Given the description of an element on the screen output the (x, y) to click on. 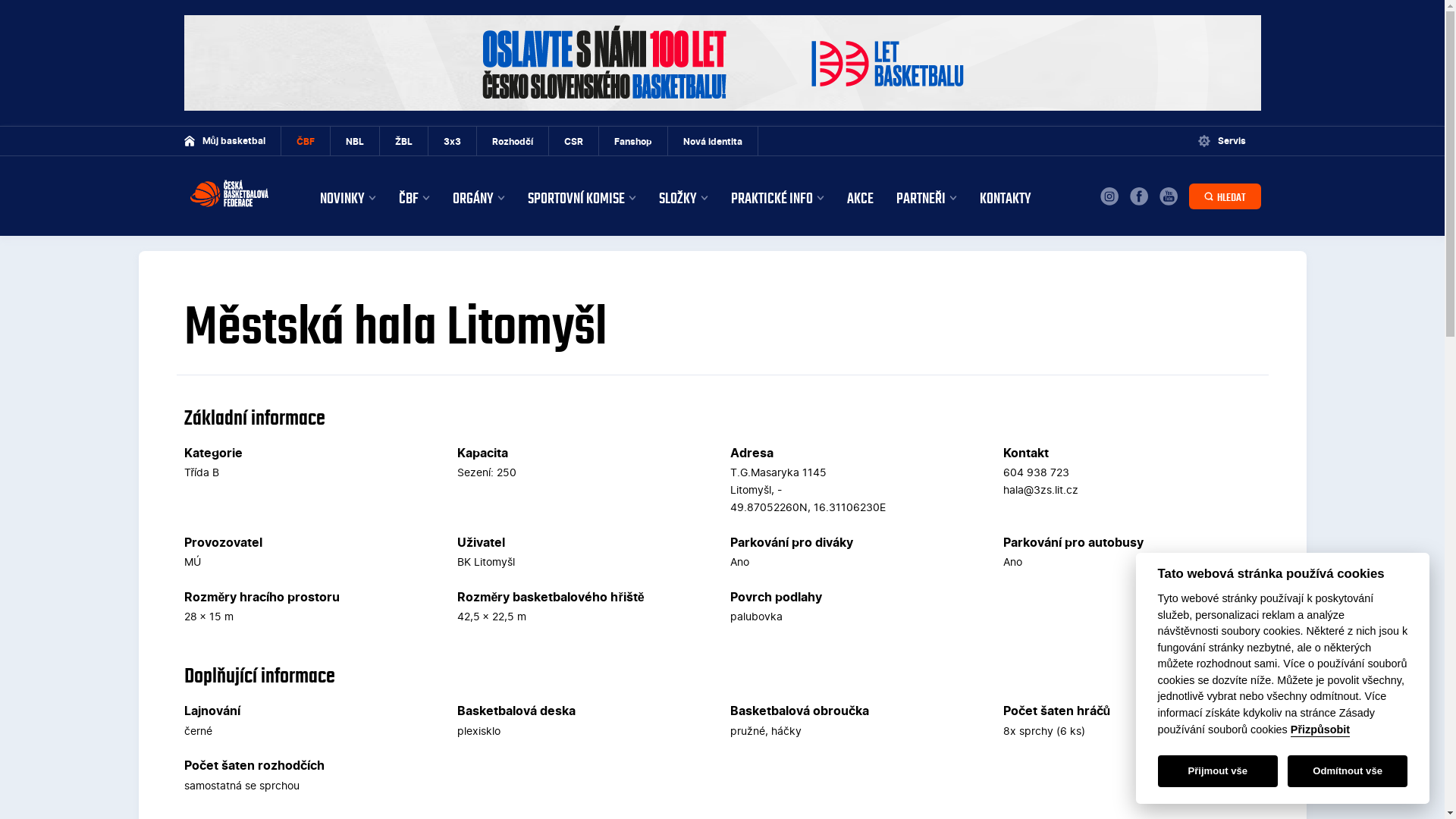
Instagram Element type: text (1108, 196)
CSR Element type: text (574, 140)
NBL Element type: text (354, 140)
Facebook Element type: text (1138, 196)
Youtube Element type: text (1167, 196)
Fanshop Element type: text (633, 140)
KONTAKTY Element type: text (1005, 200)
NOVINKY Element type: text (348, 200)
Servis
Servis Element type: text (1222, 140)
HLEDAT Element type: text (1225, 196)
AKCE Element type: text (860, 200)
3x3 Element type: text (452, 140)
